Given the description of an element on the screen output the (x, y) to click on. 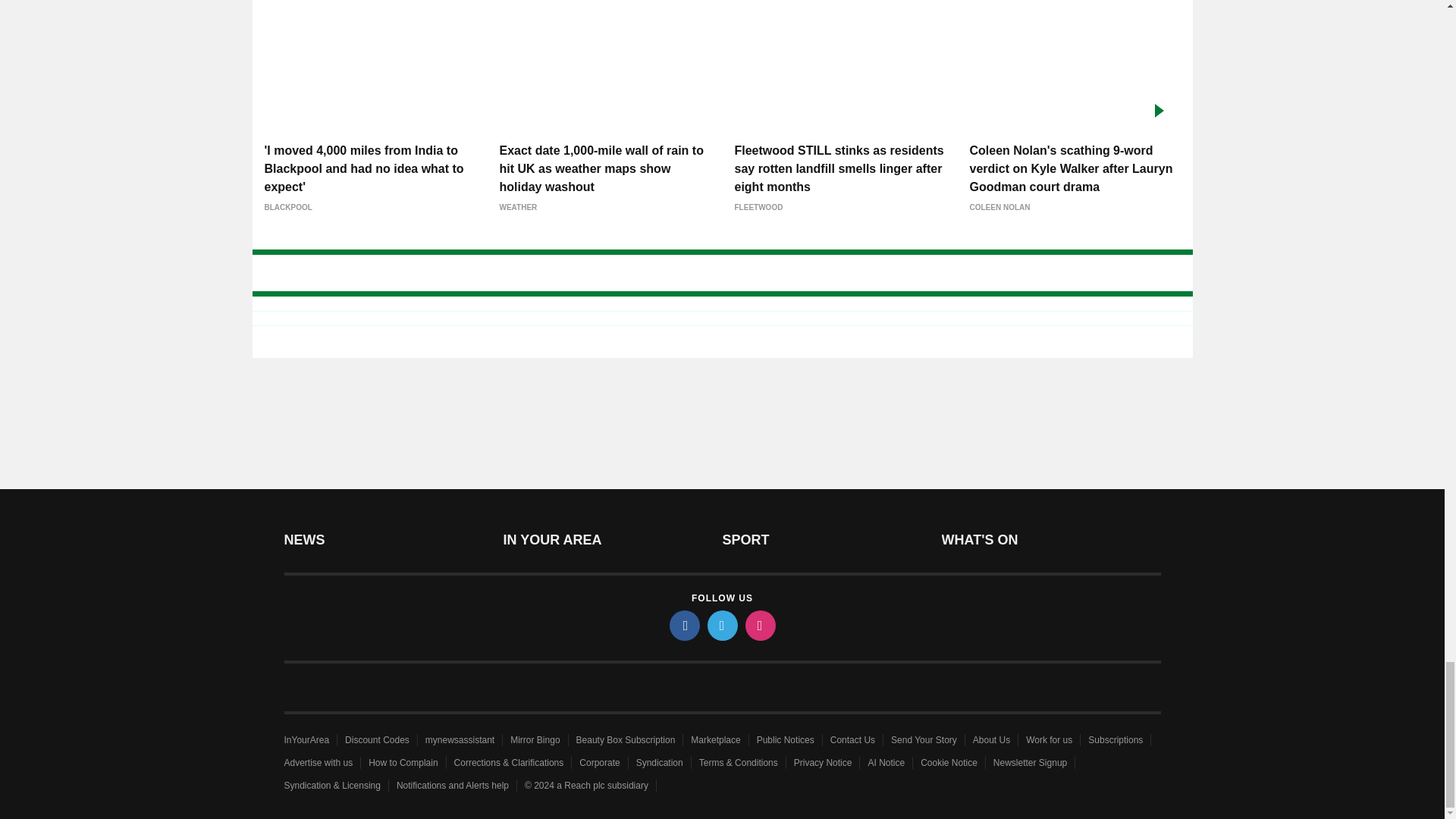
twitter (721, 625)
facebook (683, 625)
instagram (759, 625)
